Given the description of an element on the screen output the (x, y) to click on. 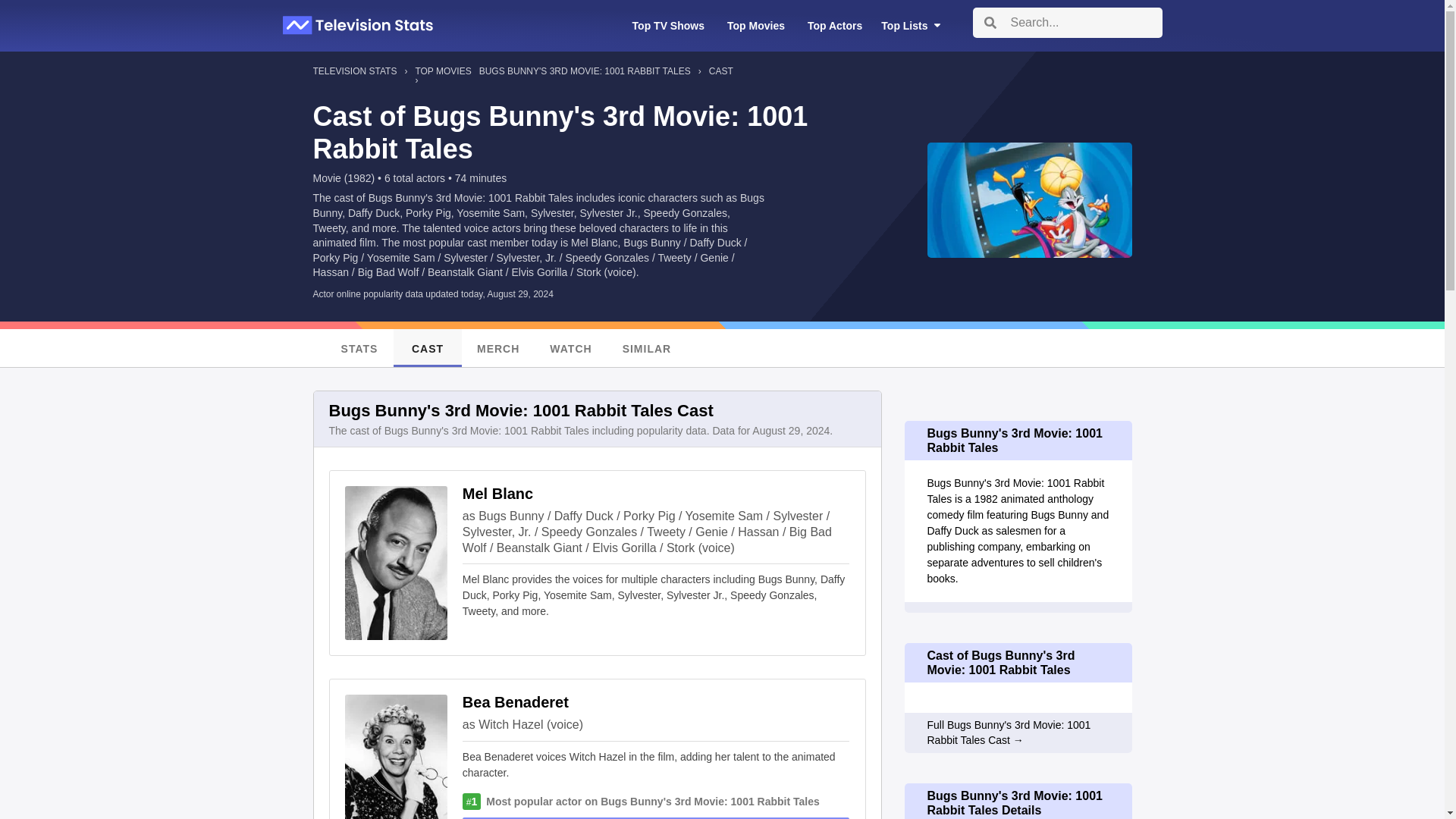
BUGS BUNNY'S 3RD MOVIE: 1001 RABBIT TALES (584, 75)
TOP MOVIES (442, 71)
Top Actors (834, 25)
Top Movies (756, 25)
MERCH (497, 347)
WATCH (570, 347)
TELEVISION STATS (354, 75)
CAST (427, 347)
Top TV Shows (667, 25)
Cast of Bugs Bunny's 3rd Movie: 1001 Rabbit Tales (1017, 662)
